Given the description of an element on the screen output the (x, y) to click on. 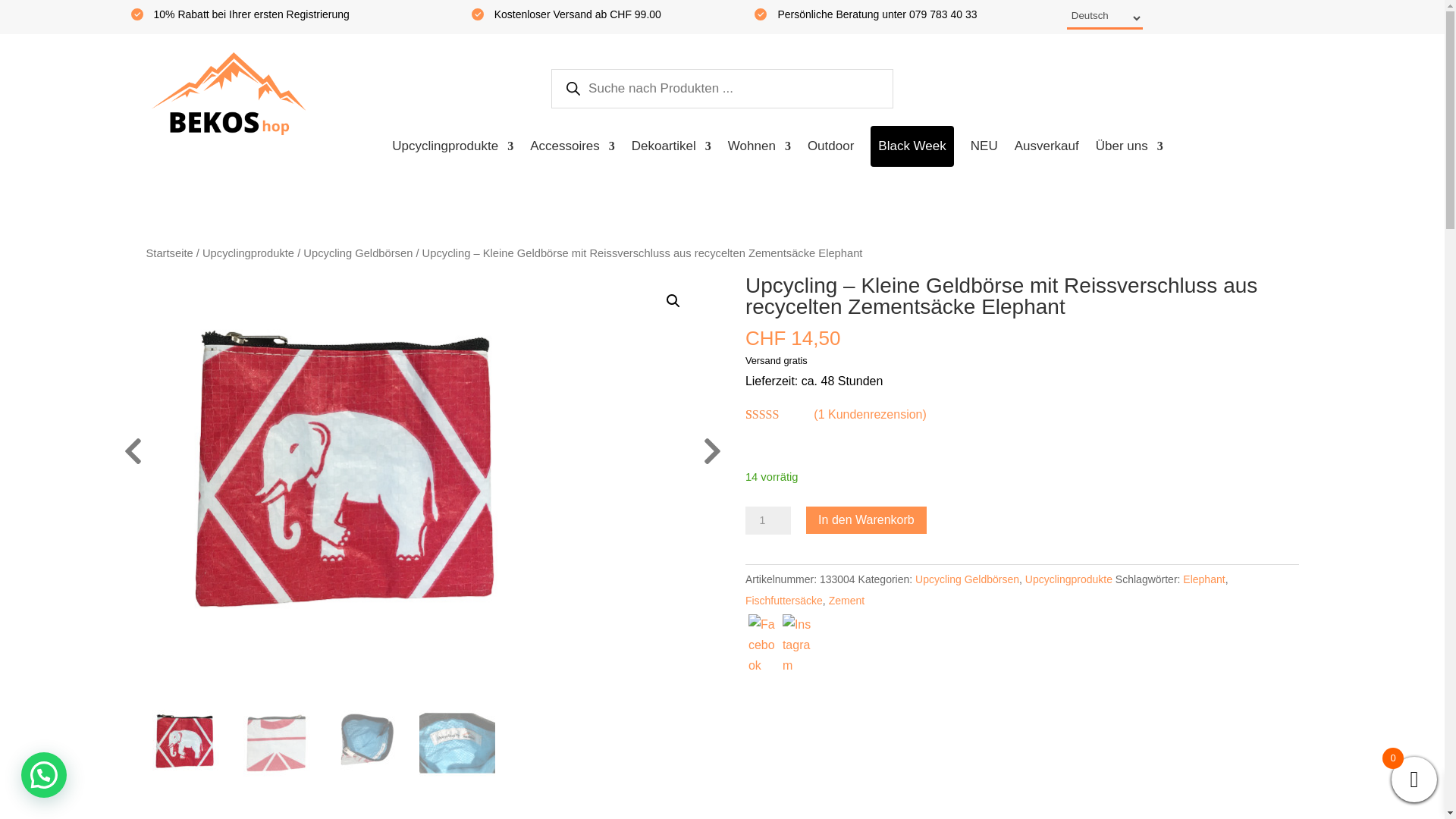
Ausverkauf Element type: text (1046, 145)
Upcyclingprodukte Element type: text (1068, 579)
Black Week Element type: text (911, 145)
Konto Element type: text (974, 90)
Zement Element type: text (846, 600)
Wohnen Element type: text (759, 145)
In den Warenkorb Element type: text (866, 520)
Startseite Element type: text (168, 253)
(1 Kundenrezension) Element type: text (869, 413)
Elephant Element type: text (1203, 579)
Upcyclingprodukte Element type: text (452, 145)
Dekoartikel Element type: text (671, 145)
Instagram Element type: hover (797, 645)
NEU Element type: text (983, 145)
Upcyclingprodukte Element type: text (248, 253)
Facebook Element type: hover (763, 645)
Accessoires Element type: text (572, 145)
Outdoor Element type: text (830, 145)
